Given the description of an element on the screen output the (x, y) to click on. 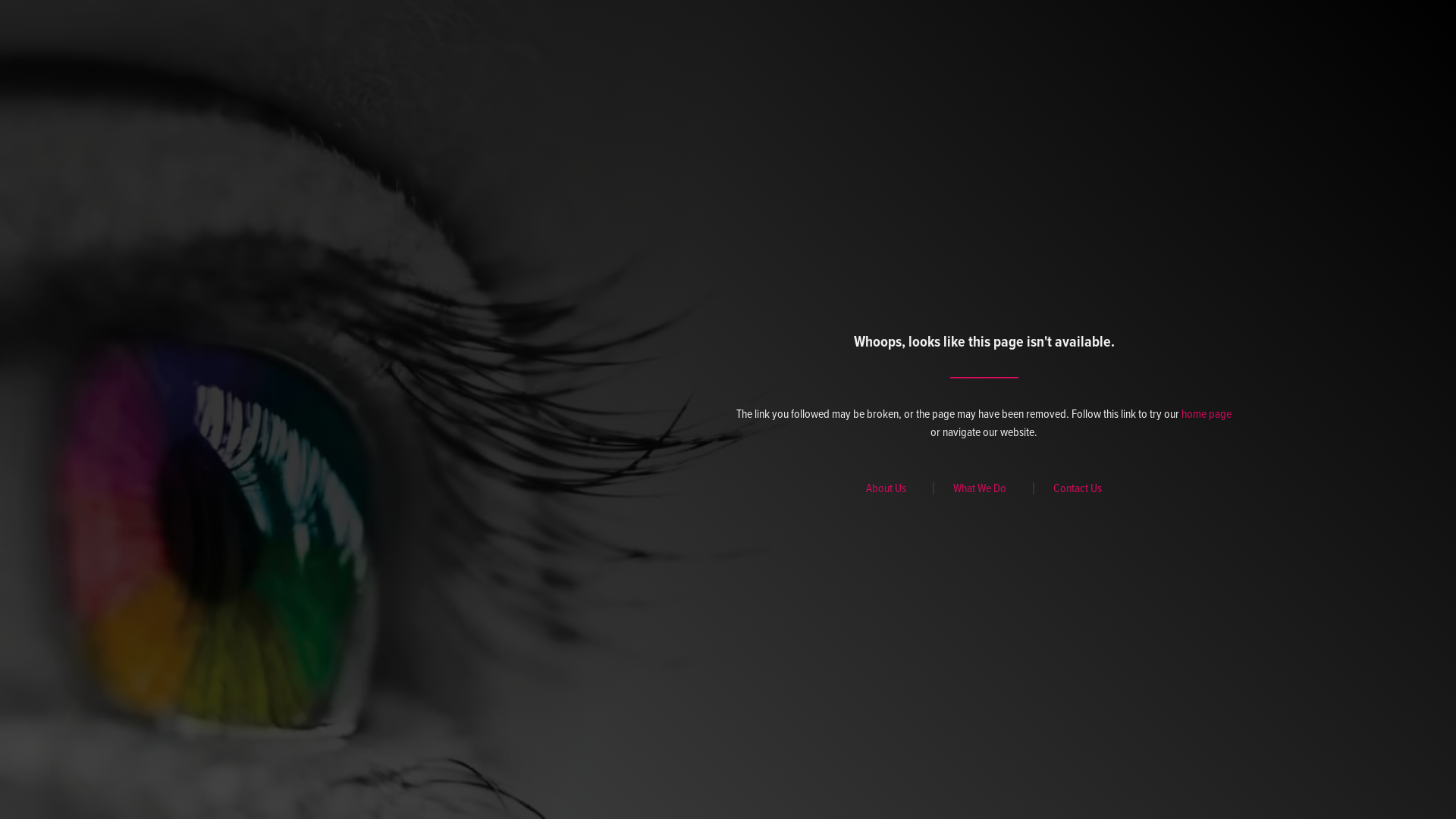
About Us Element type: text (889, 488)
What We Do Element type: text (983, 488)
Contact Us Element type: text (1077, 488)
home page Element type: text (1206, 413)
